Given the description of an element on the screen output the (x, y) to click on. 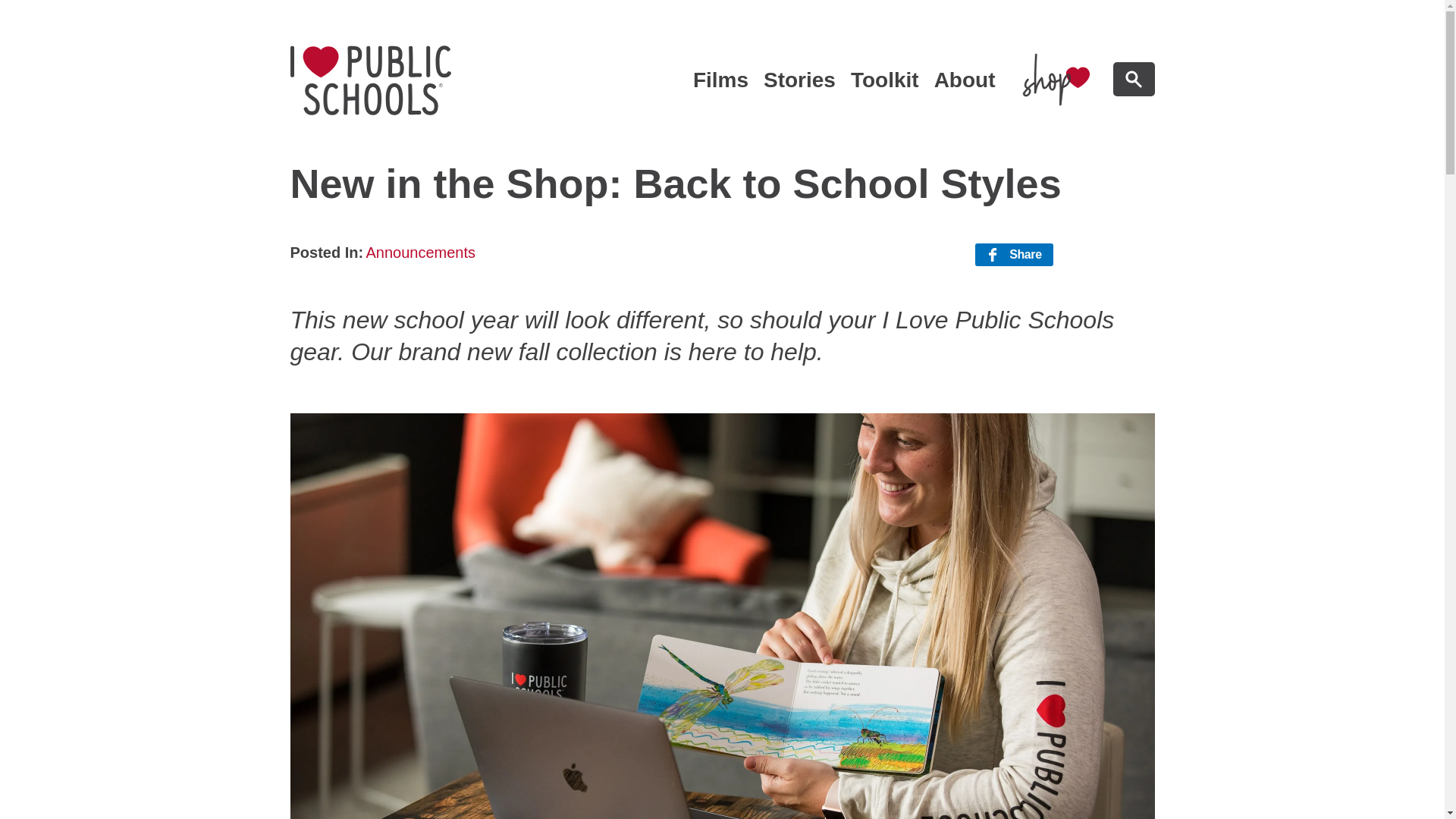
Share on Facebook (1013, 254)
Toolkit (884, 81)
Stories (370, 79)
I Love Public Schools (798, 81)
Shop (370, 79)
Announcements (1055, 79)
Films (420, 253)
About (720, 81)
Shop (964, 81)
Share (1055, 79)
Search (1013, 254)
